Given the description of an element on the screen output the (x, y) to click on. 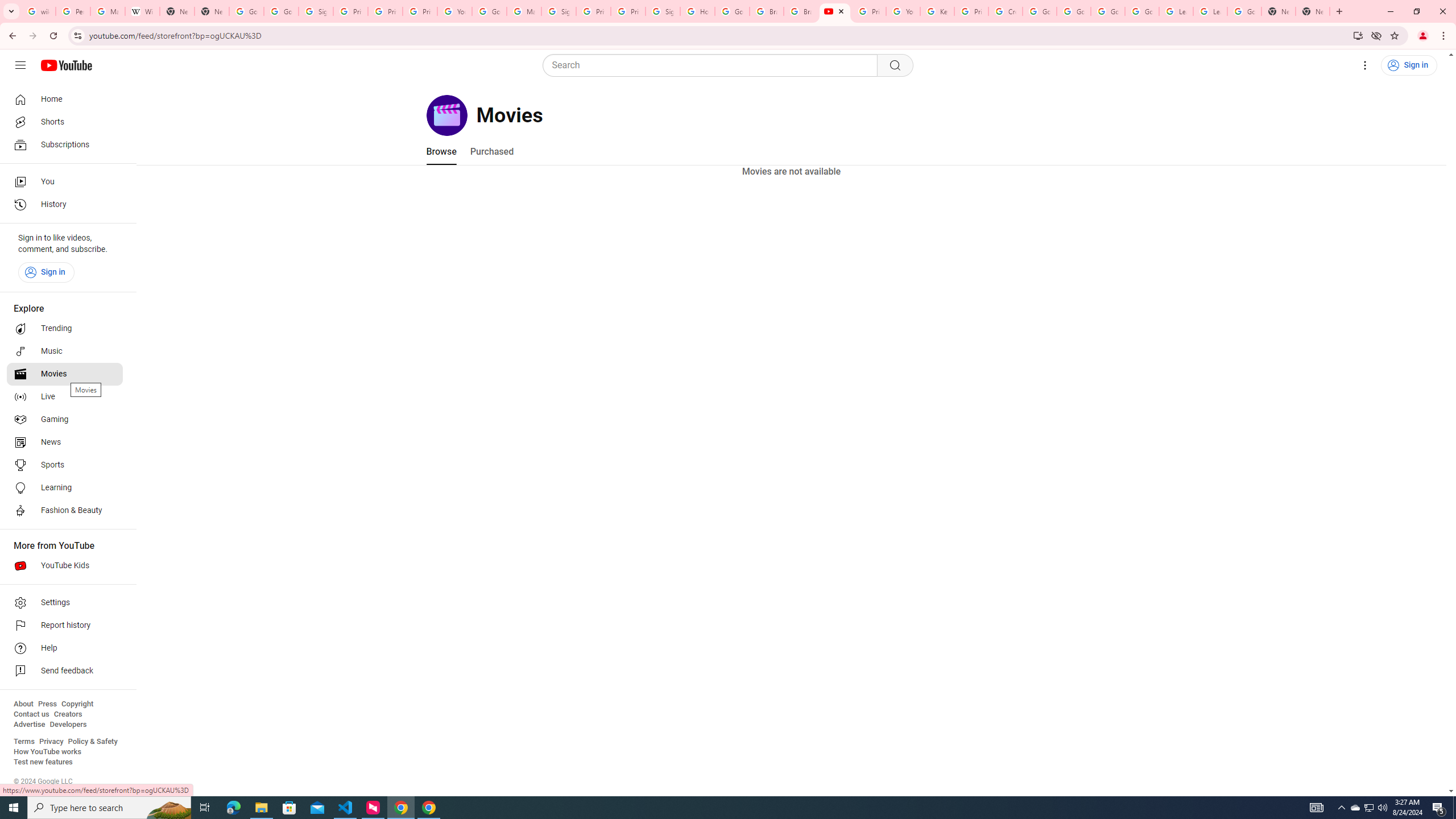
Fashion & Beauty (64, 510)
Gaming (64, 419)
YouTube (834, 11)
Report history (64, 625)
Sports (64, 464)
Brand Resource Center (766, 11)
New Tab (1278, 11)
Personalization & Google Search results - Google Search Help (73, 11)
Guide (20, 65)
